Given the description of an element on the screen output the (x, y) to click on. 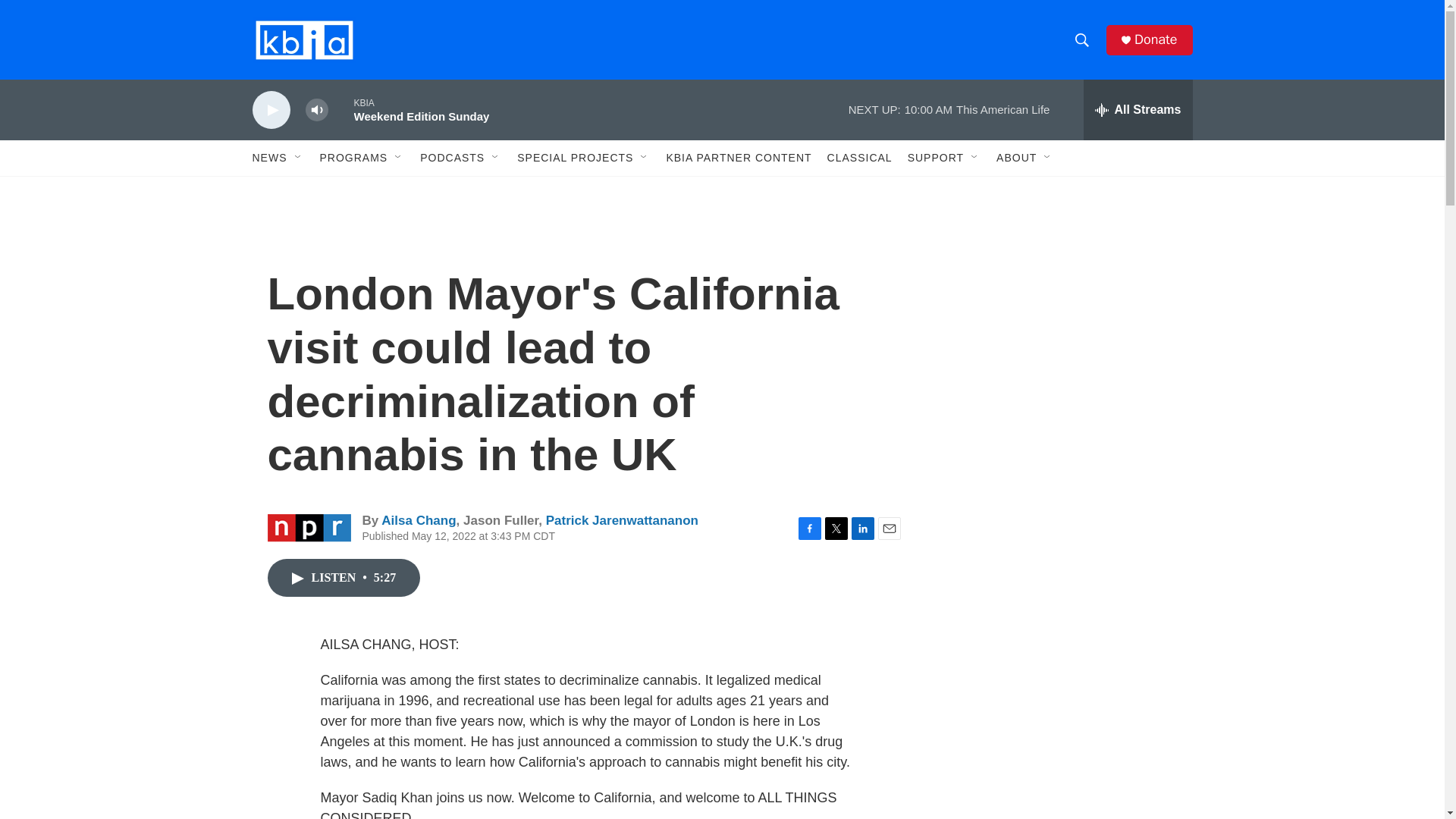
3rd party ad content (1062, 316)
3rd party ad content (1062, 536)
3rd party ad content (1062, 740)
